Given the description of an element on the screen output the (x, y) to click on. 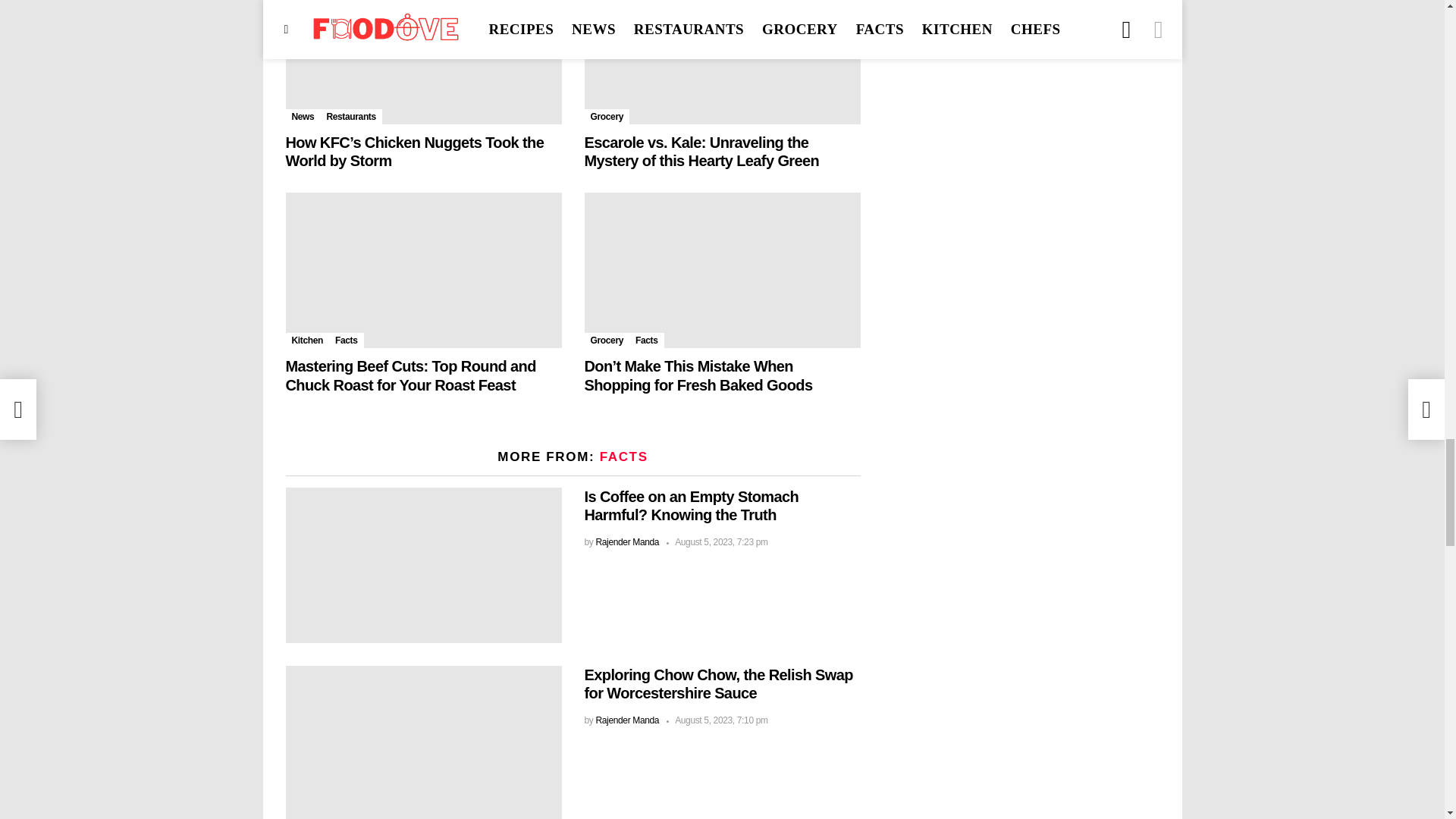
Is Coffee on an Empty Stomach Harmful? Knowing the Truth (422, 564)
Restaurants (350, 116)
Posts by Rajender Manda (627, 542)
Posts by Rajender Manda (627, 719)
Grocery (605, 116)
News (302, 116)
Kitchen (307, 340)
